Given the description of an element on the screen output the (x, y) to click on. 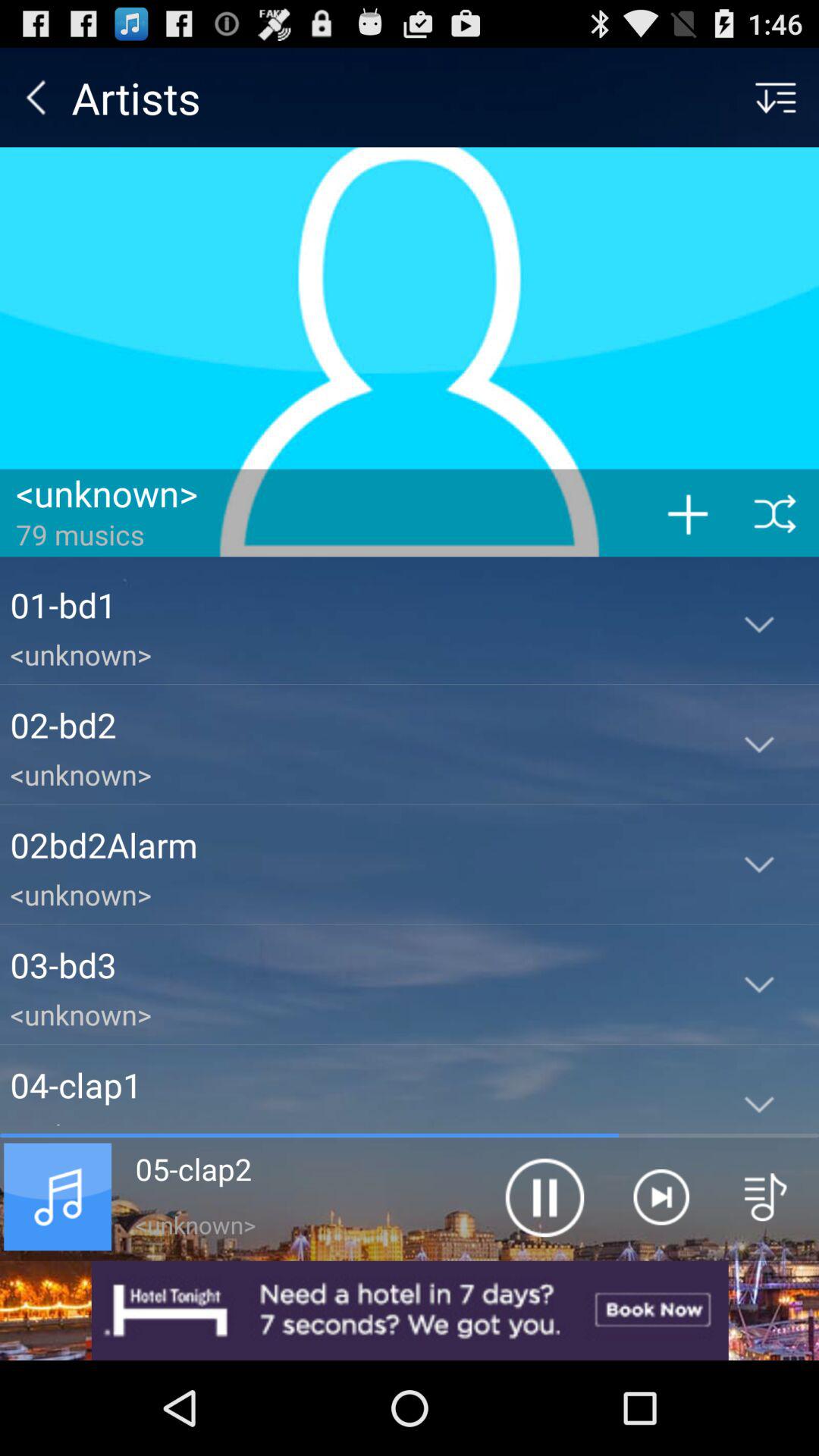
jump to 03-bd3 icon (354, 964)
